Given the description of an element on the screen output the (x, y) to click on. 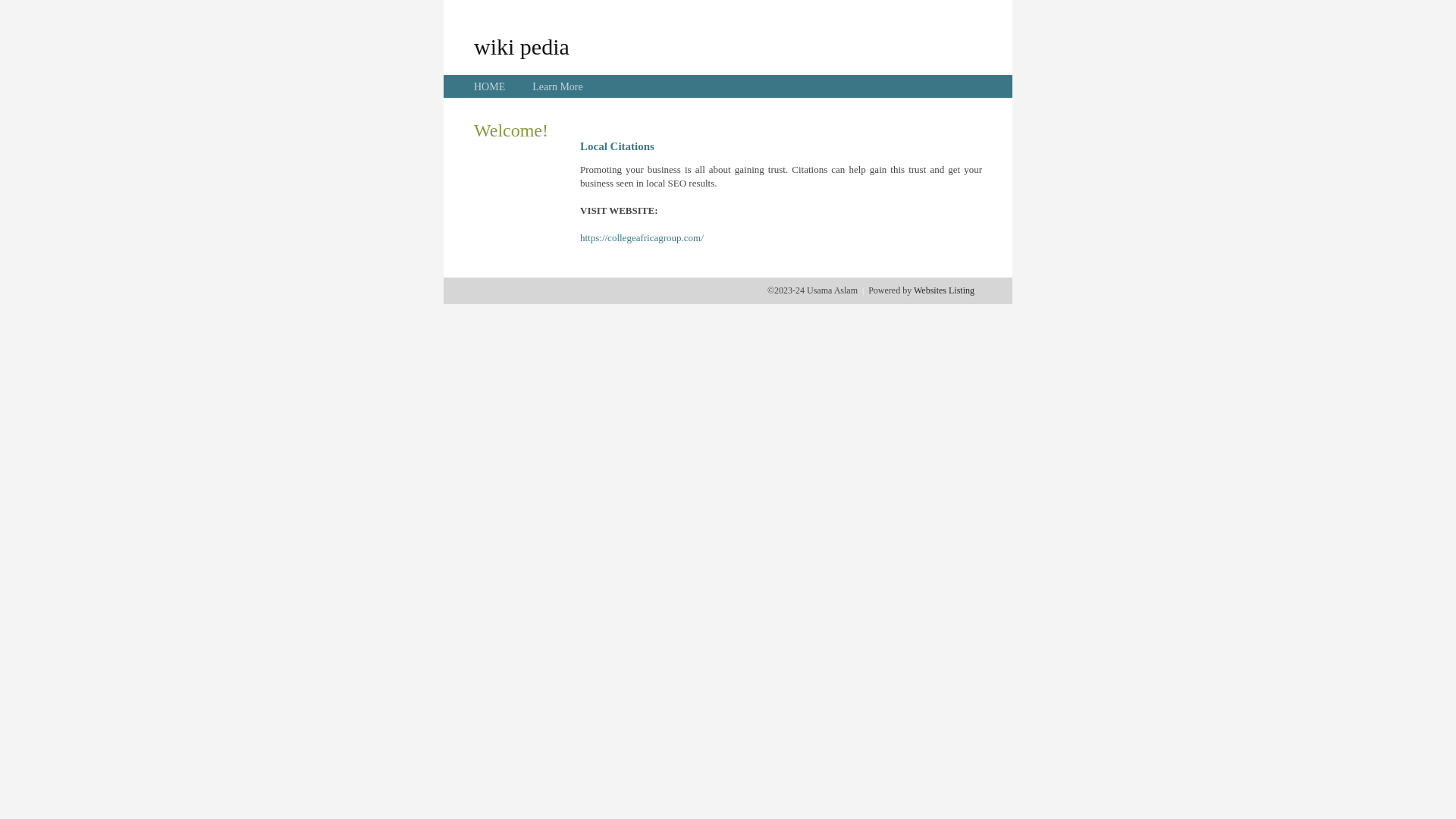
Websites Listing Element type: text (943, 290)
wiki pedia Element type: text (521, 46)
HOME Element type: text (489, 86)
https://collegeafricagroup.com/ Element type: text (641, 237)
Learn More Element type: text (557, 86)
